Given the description of an element on the screen output the (x, y) to click on. 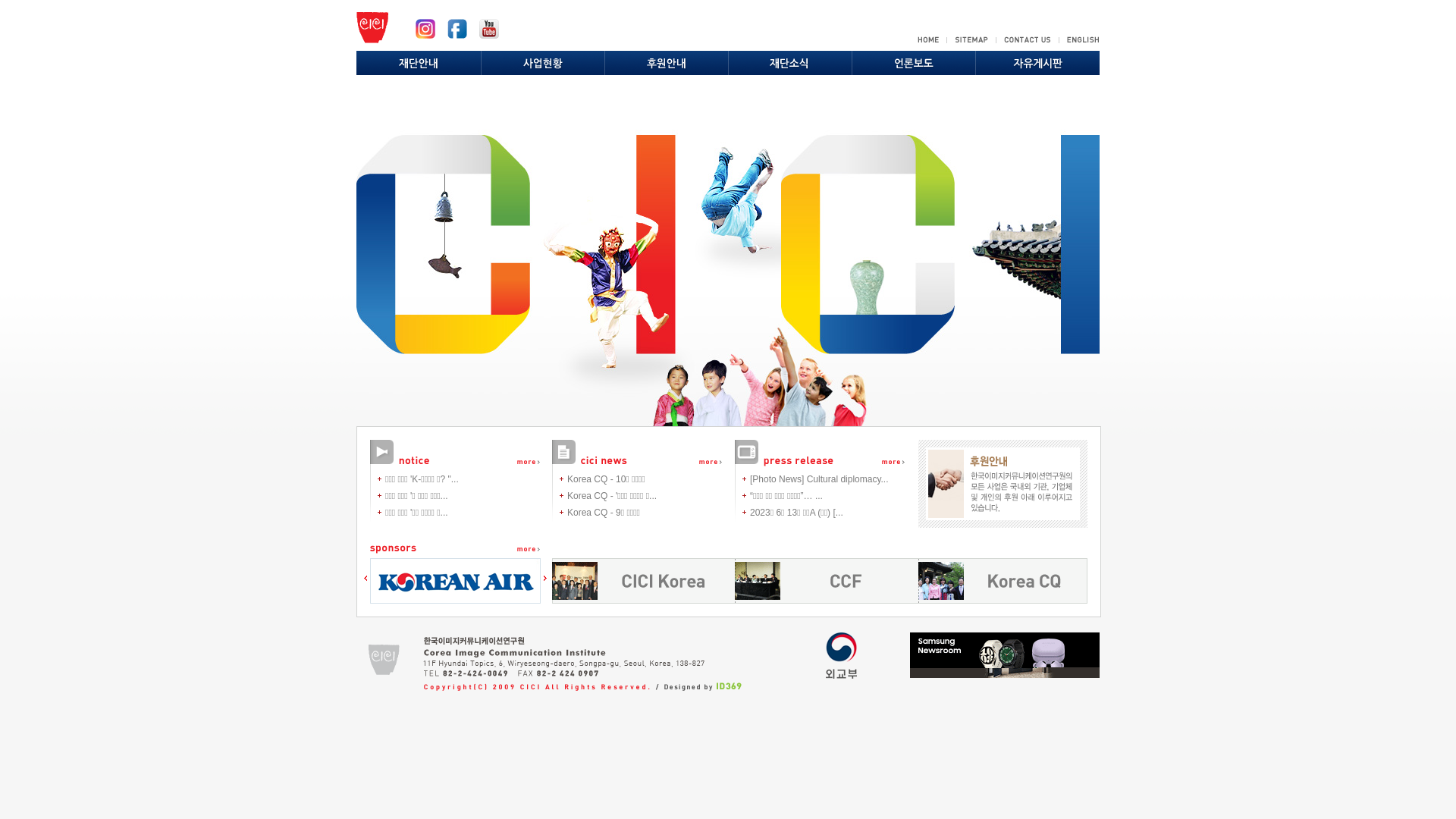
[Photo News] Cultural diplomacy... Element type: text (818, 478)
